Given the description of an element on the screen output the (x, y) to click on. 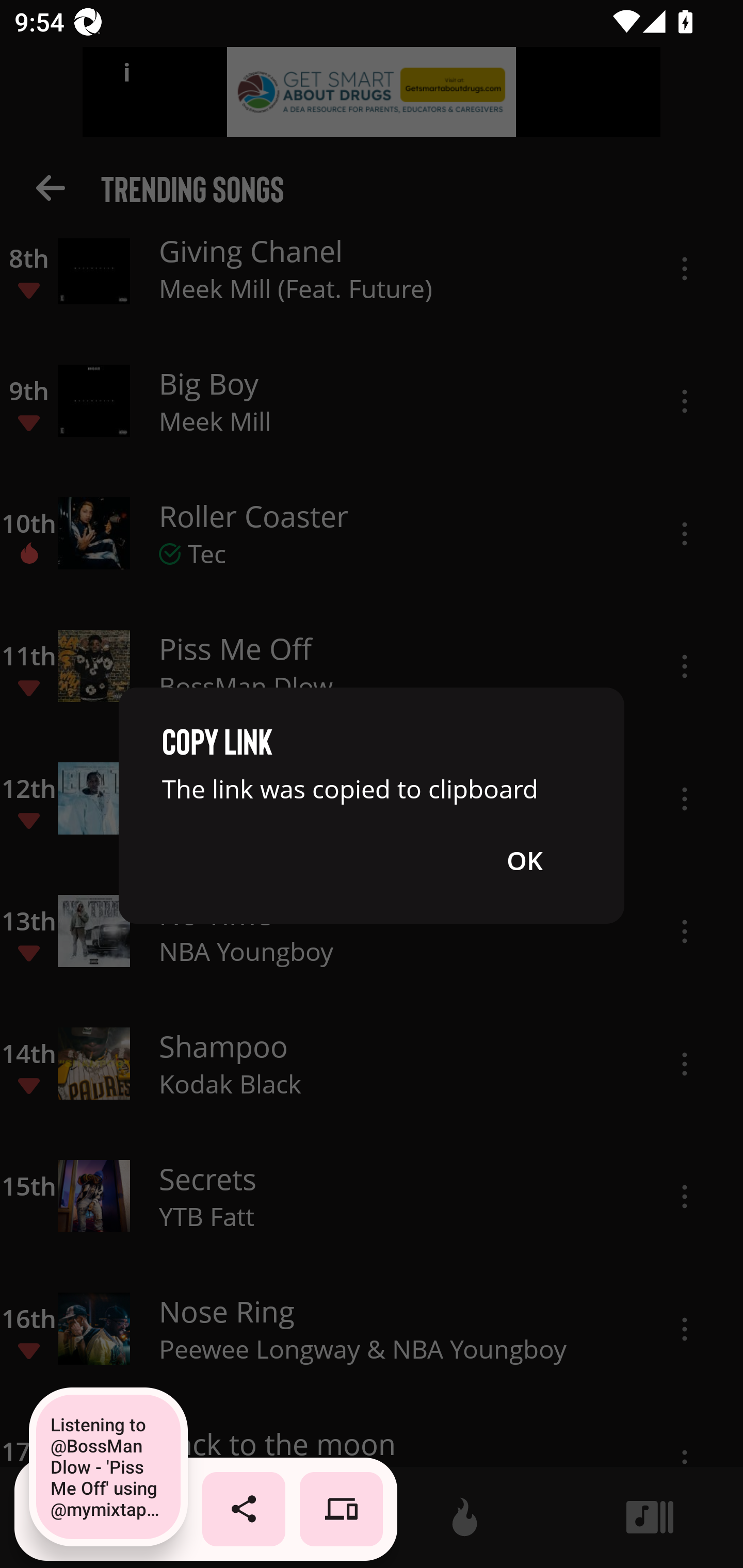
OK (524, 859)
